Given the description of an element on the screen output the (x, y) to click on. 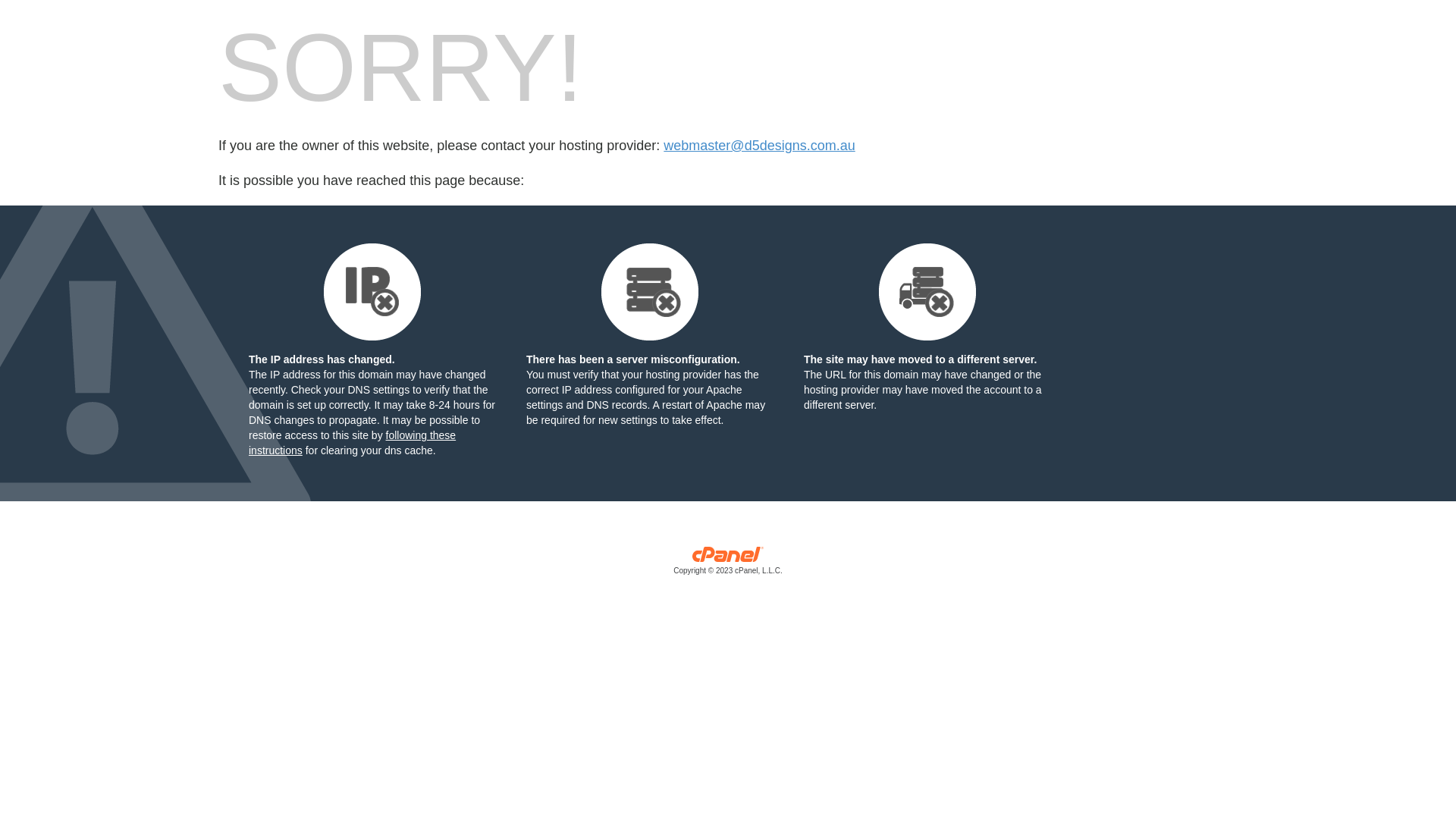
webmaster@d5designs.com.au Element type: text (758, 145)
following these instructions Element type: text (351, 442)
